Given the description of an element on the screen output the (x, y) to click on. 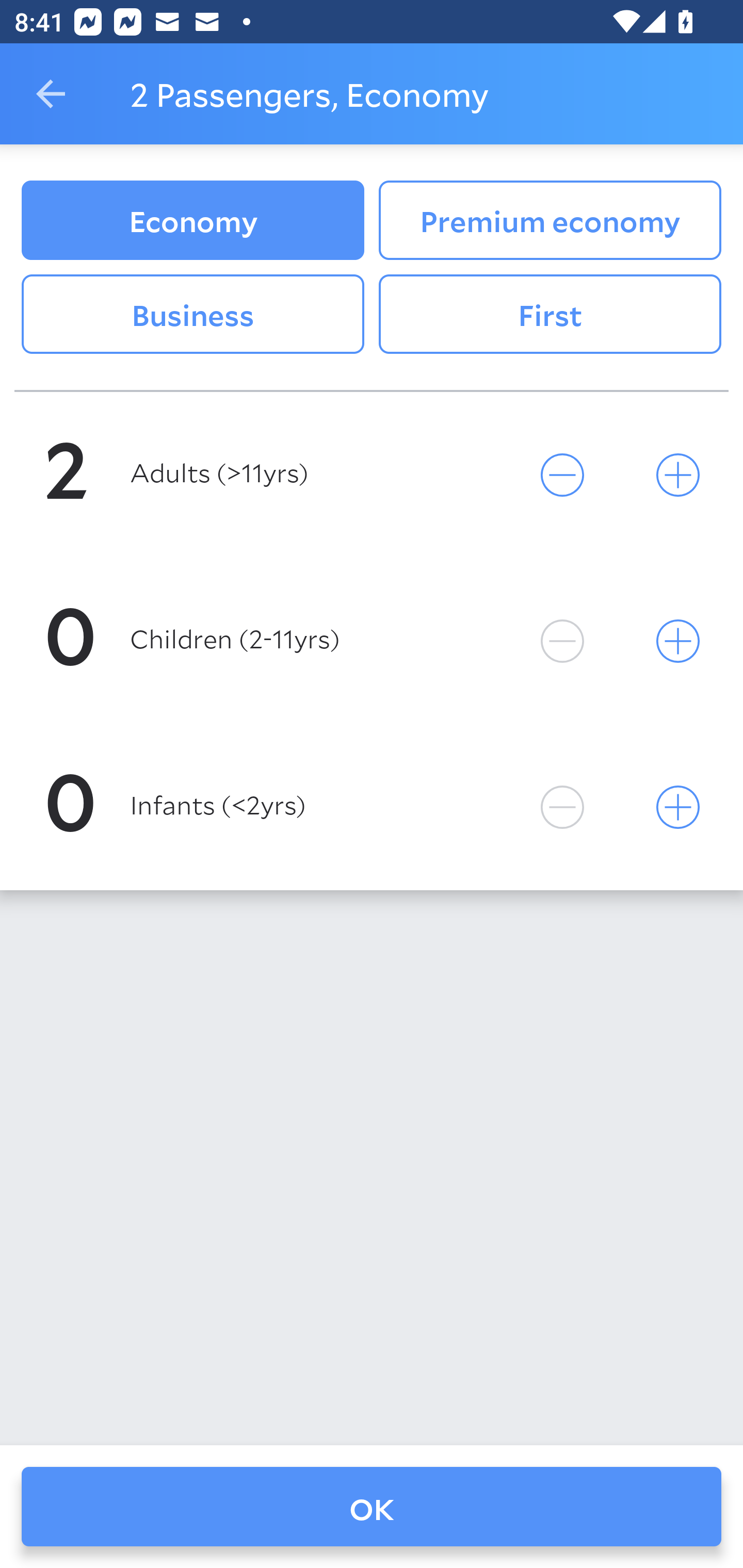
Navigate up (50, 93)
Economy (192, 220)
Premium economy (549, 220)
Business (192, 314)
First (549, 314)
OK (371, 1506)
